Given the description of an element on the screen output the (x, y) to click on. 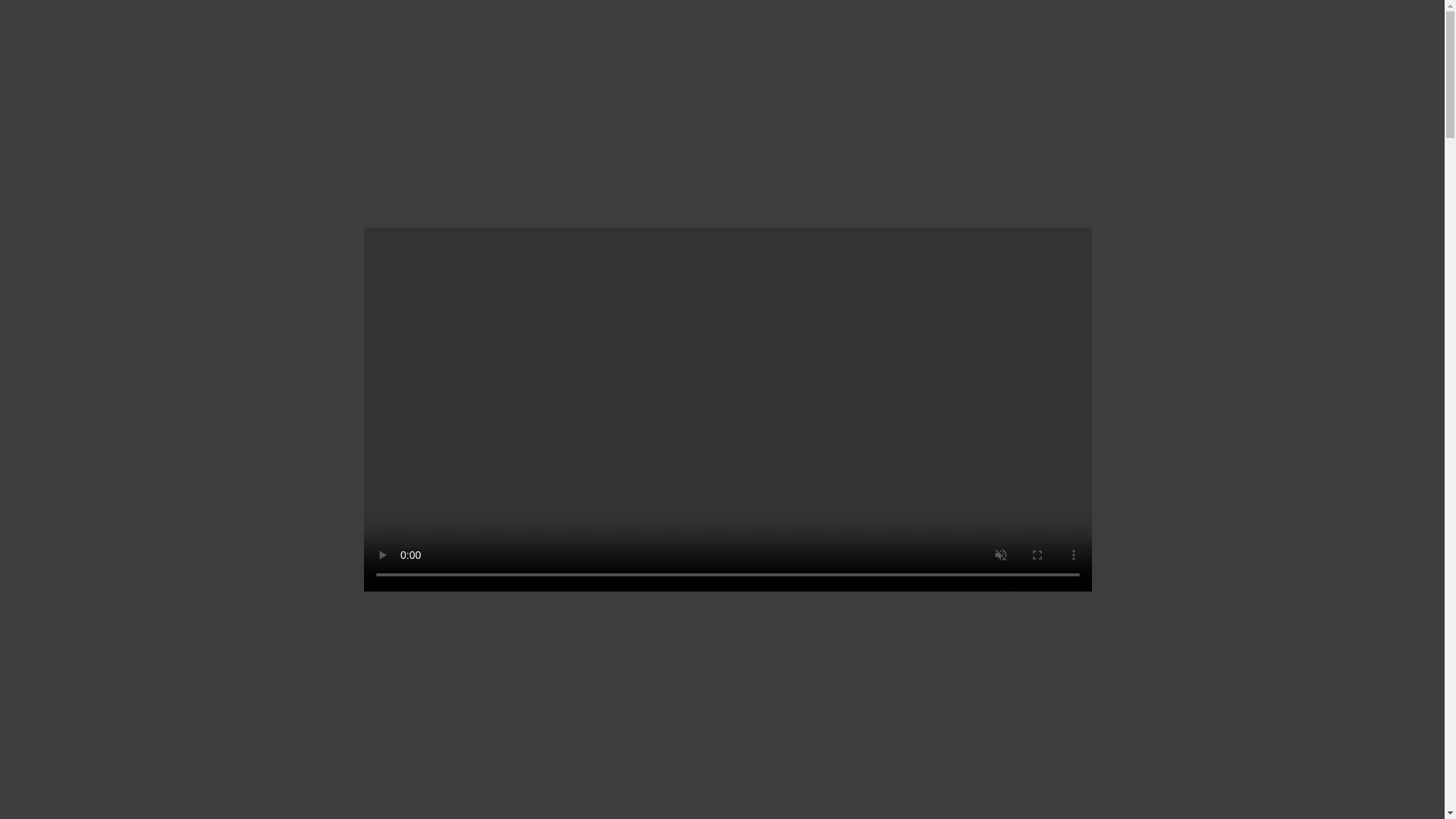
PROJECTS (508, 41)
SERVICES (319, 41)
ABOUT (959, 41)
CONTACT (1125, 41)
